Given the description of an element on the screen output the (x, y) to click on. 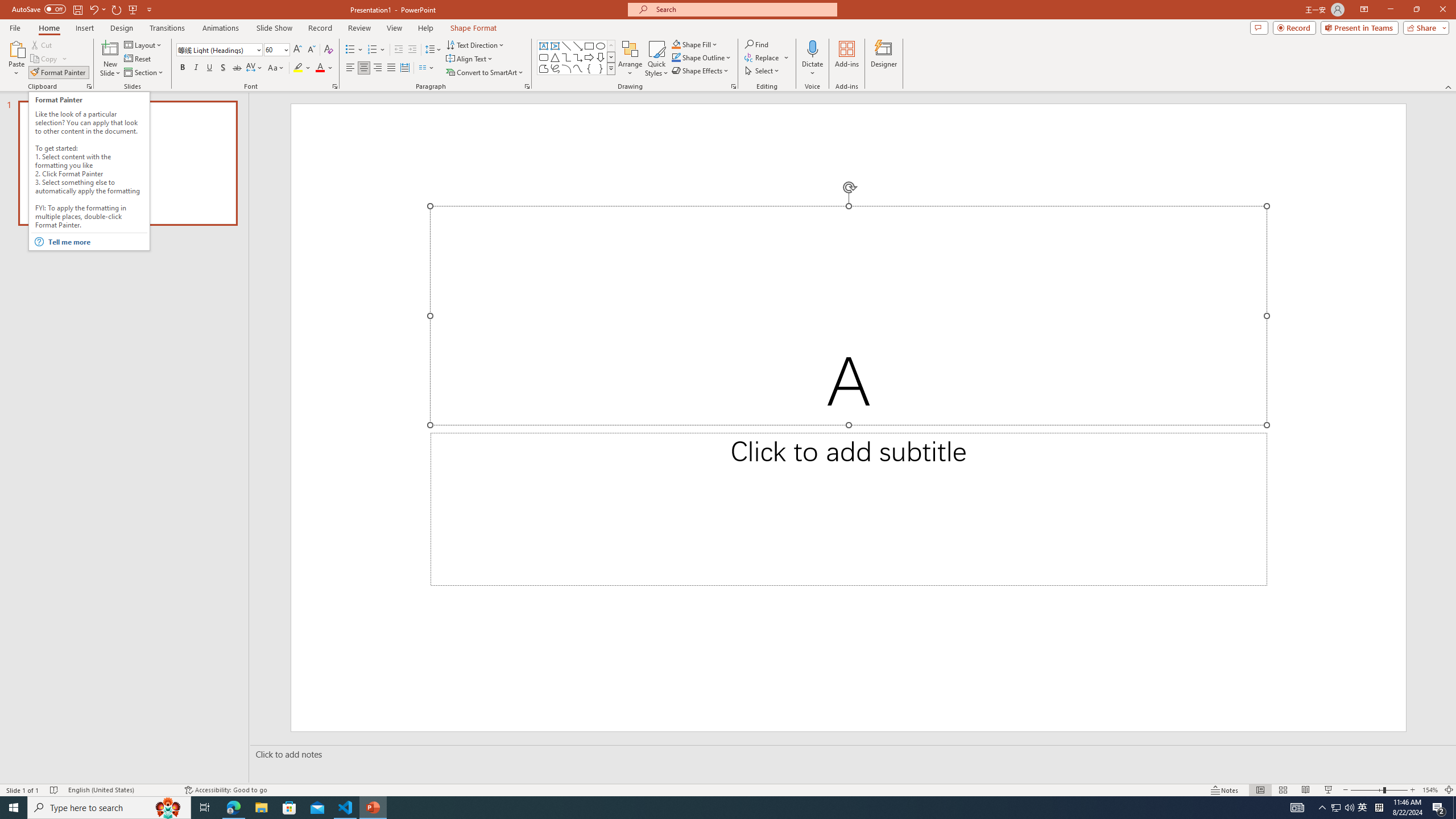
Class: NetUIImage (610, 68)
File Tab (15, 27)
Numbering (376, 49)
Change Case (276, 67)
Arc (566, 68)
Help (425, 28)
Animations (220, 28)
Bold (182, 67)
Slide Sorter (1282, 790)
Restore Down (1416, 9)
New Slide (110, 48)
Increase Font Size (297, 49)
Replace... (762, 56)
Columns (426, 67)
